Given the description of an element on the screen output the (x, y) to click on. 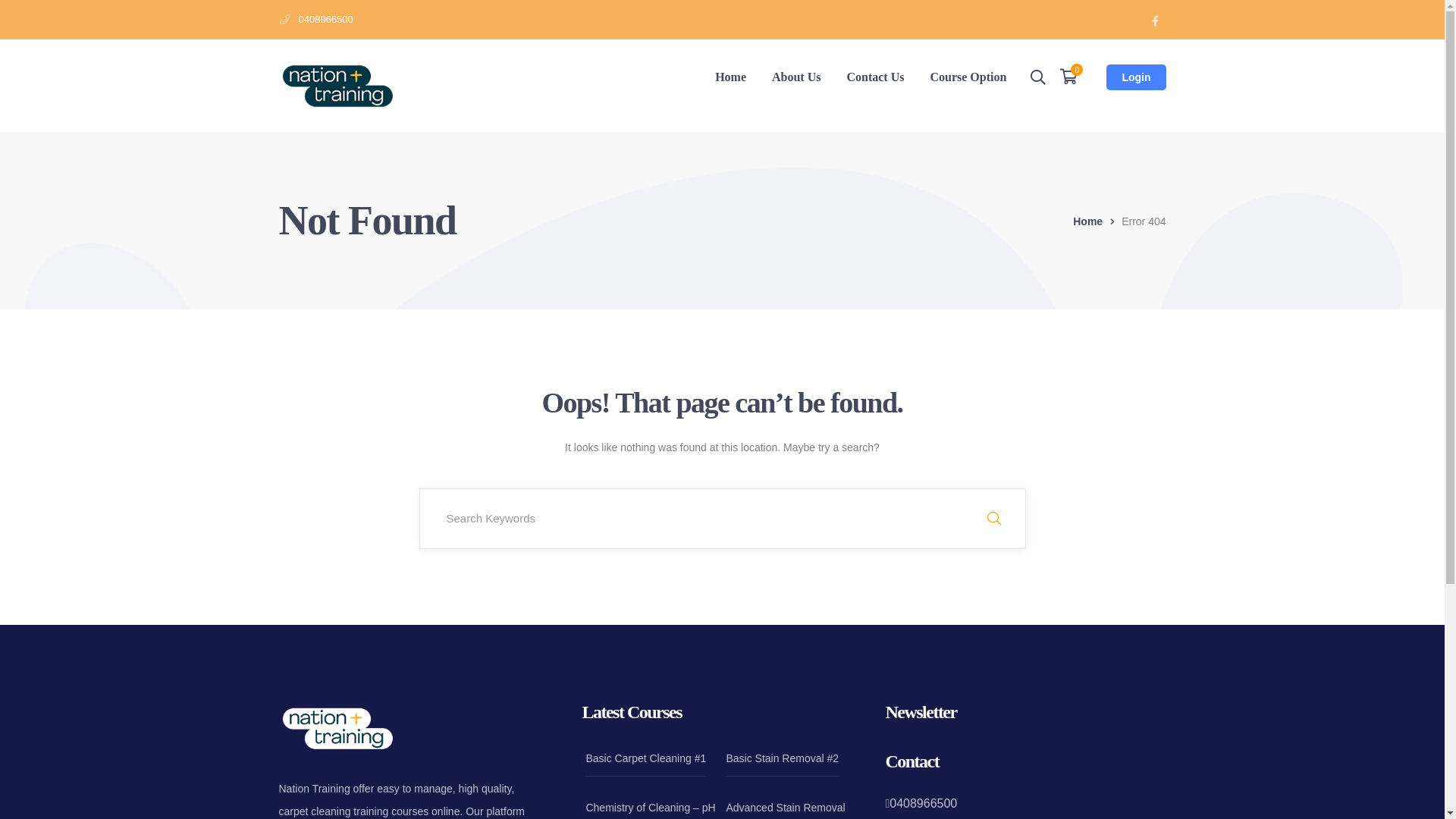
About Us Element type: text (795, 77)
Basic Carpet Cleaning #1 Element type: text (645, 758)
Login Element type: text (1135, 77)
Home Element type: text (1097, 221)
Course Option Element type: text (967, 77)
Nation Training Element type: hover (338, 84)
0 Element type: text (1068, 76)
Contact Us Element type: text (874, 77)
Facebook Profile Element type: text (1155, 19)
SEARCH Element type: text (993, 518)
Home Element type: text (730, 77)
Search for: Element type: hover (721, 518)
0408966500 Element type: text (325, 19)
Basic Stain Removal #2 Element type: text (781, 758)
